Given the description of an element on the screen output the (x, y) to click on. 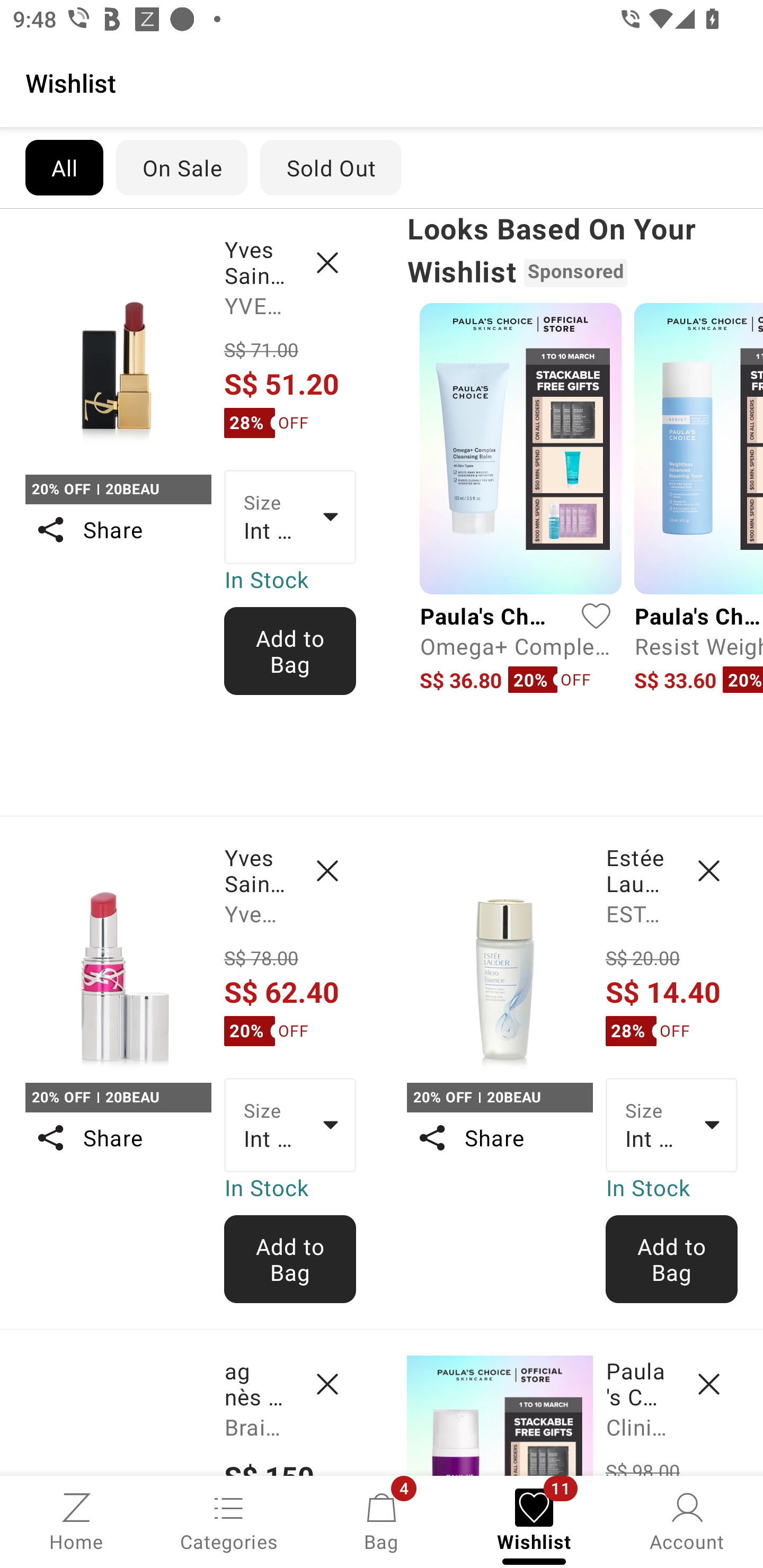
Wishlist (381, 82)
All (64, 167)
On Sale (181, 167)
Sold Out (330, 167)
Size Int One Size (290, 517)
Share (118, 529)
Add to Bag (290, 650)
Size Int One Size (290, 1125)
Size Int One Size (671, 1125)
Share (118, 1137)
Share (499, 1137)
Add to Bag (290, 1259)
Add to Bag (671, 1259)
Home (76, 1519)
Categories (228, 1519)
Bag, 4 new notifications Bag (381, 1519)
Account (686, 1519)
